Given the description of an element on the screen output the (x, y) to click on. 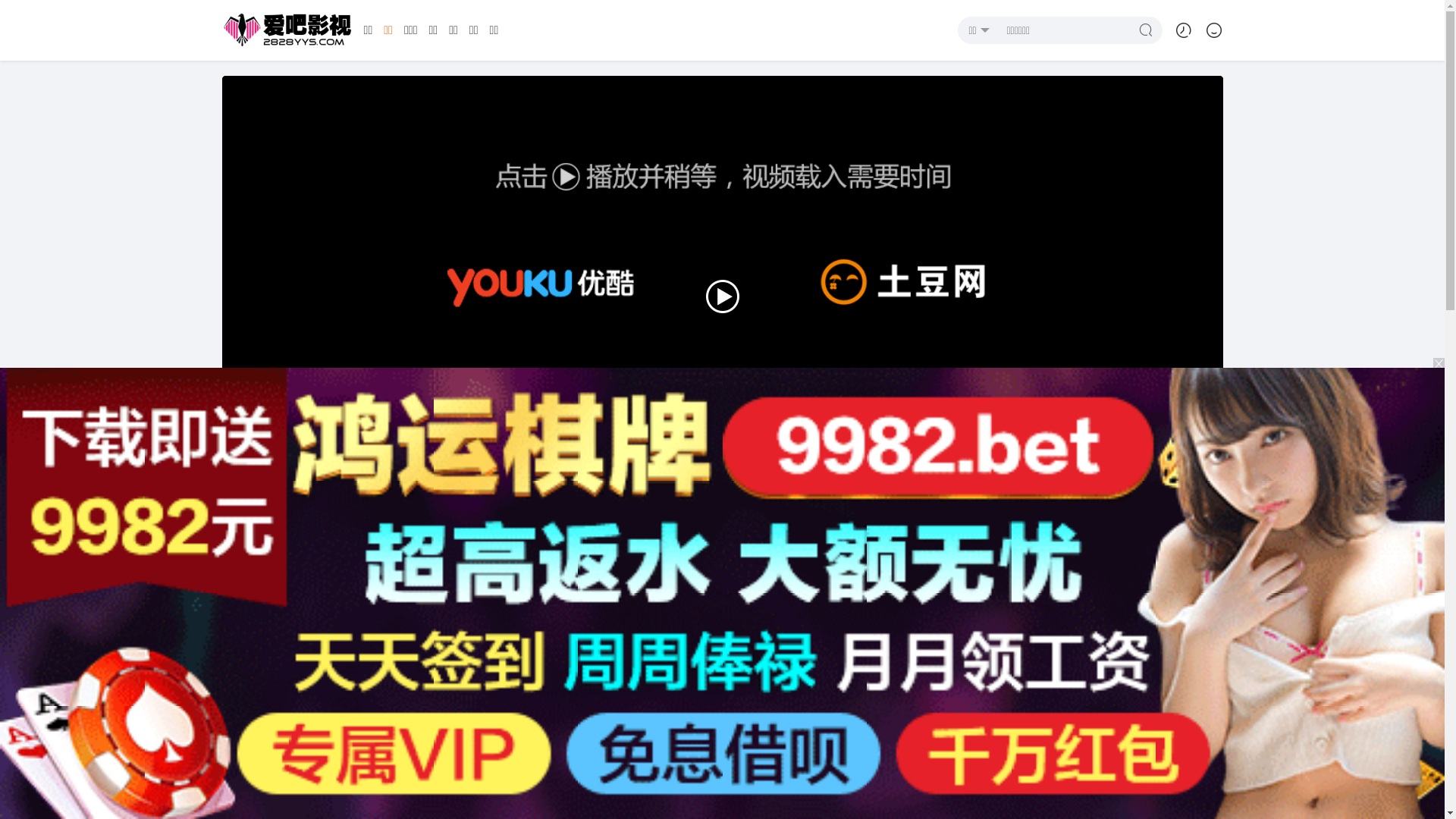
01 Element type: text (277, 641)
07 Element type: text (762, 641)
02 Element type: text (358, 641)
10 Element type: text (1004, 641)
09 Element type: text (924, 641)
08 Element type: text (843, 641)
03 Element type: text (439, 641)
2022 Element type: text (706, 782)
04 Element type: text (519, 641)
05 Element type: text (600, 641)
06 Element type: text (681, 641)
